Given the description of an element on the screen output the (x, y) to click on. 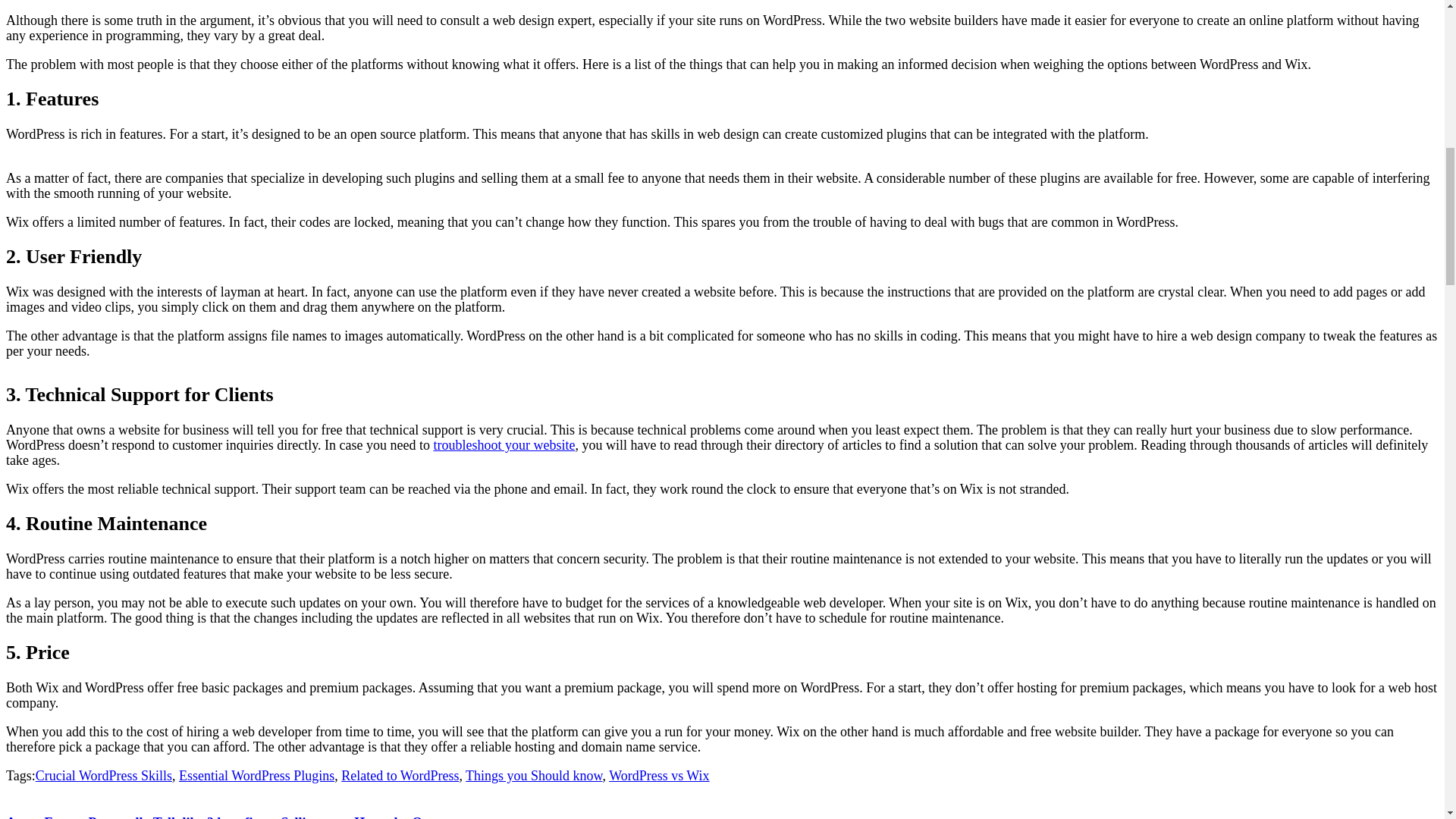
Crucial WordPress Skills (102, 775)
Things you Should know (533, 775)
Essential WordPress Plugins (256, 775)
Related to WordPress (399, 775)
troubleshoot your website (503, 444)
